Given the description of an element on the screen output the (x, y) to click on. 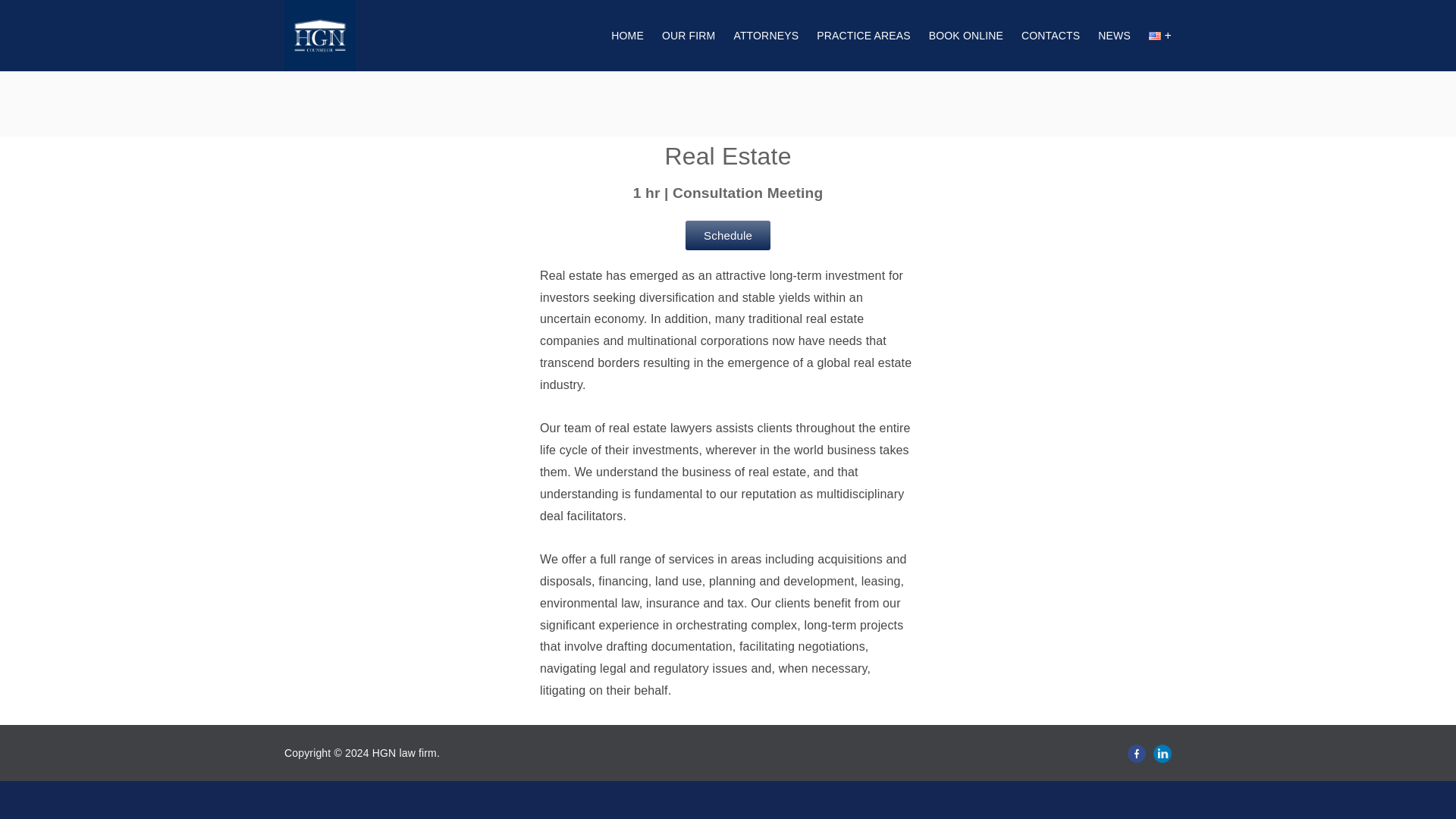
PRACTICE AREAS (863, 35)
Linkedin (1162, 752)
NEWS (1114, 35)
Schedule (727, 235)
HGN law firm (404, 752)
OUR FIRM (689, 35)
CONTACTS (1051, 35)
BOOK ONLINE (965, 35)
HOME (627, 35)
HGN law firm (404, 752)
ATTORNEYS (765, 35)
Facebook (1135, 752)
